Given the description of an element on the screen output the (x, y) to click on. 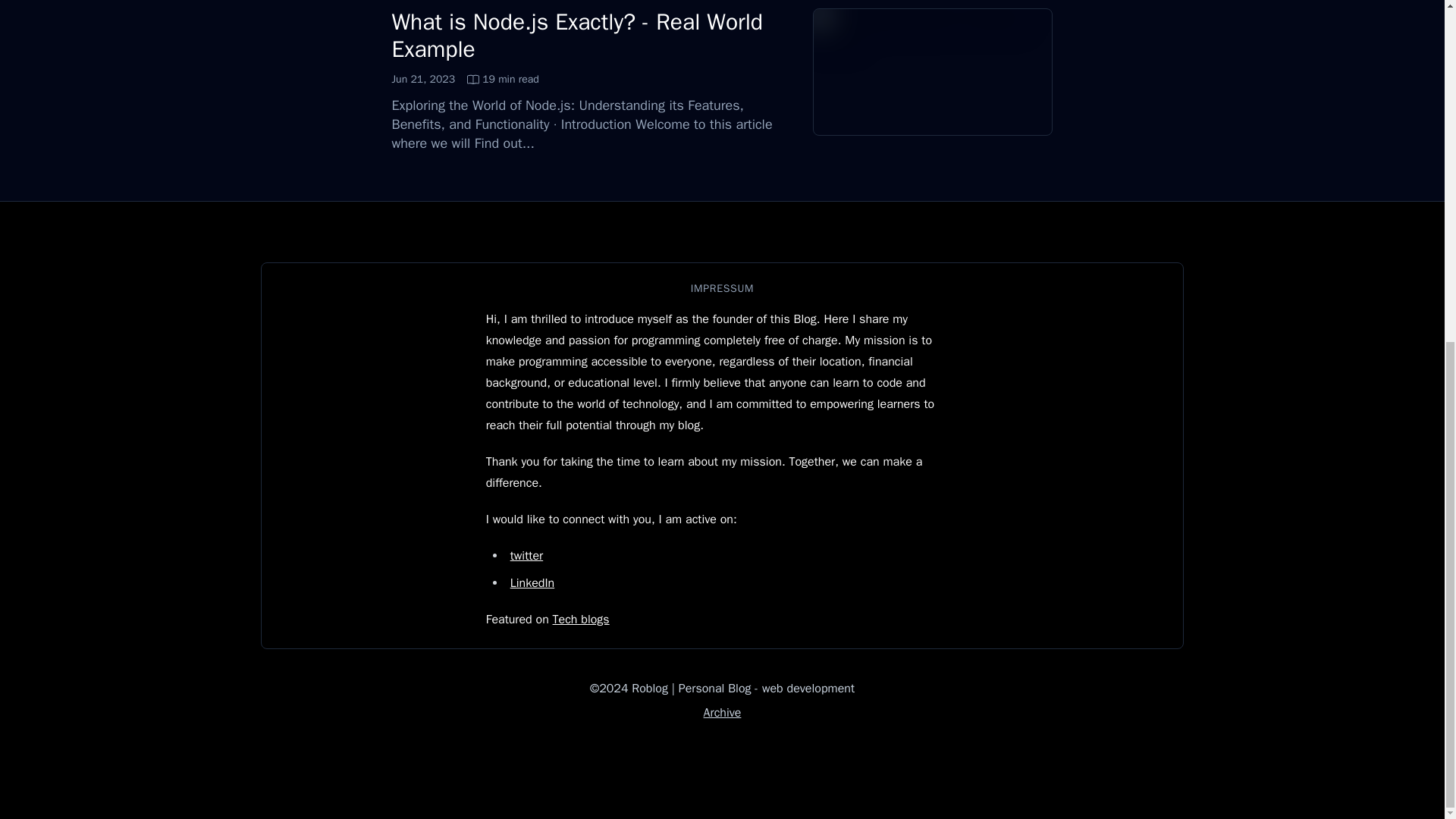
LinkedIn (464, 79)
twitter (532, 581)
What is Node.js Exactly? - Real World Example (527, 554)
